Given the description of an element on the screen output the (x, y) to click on. 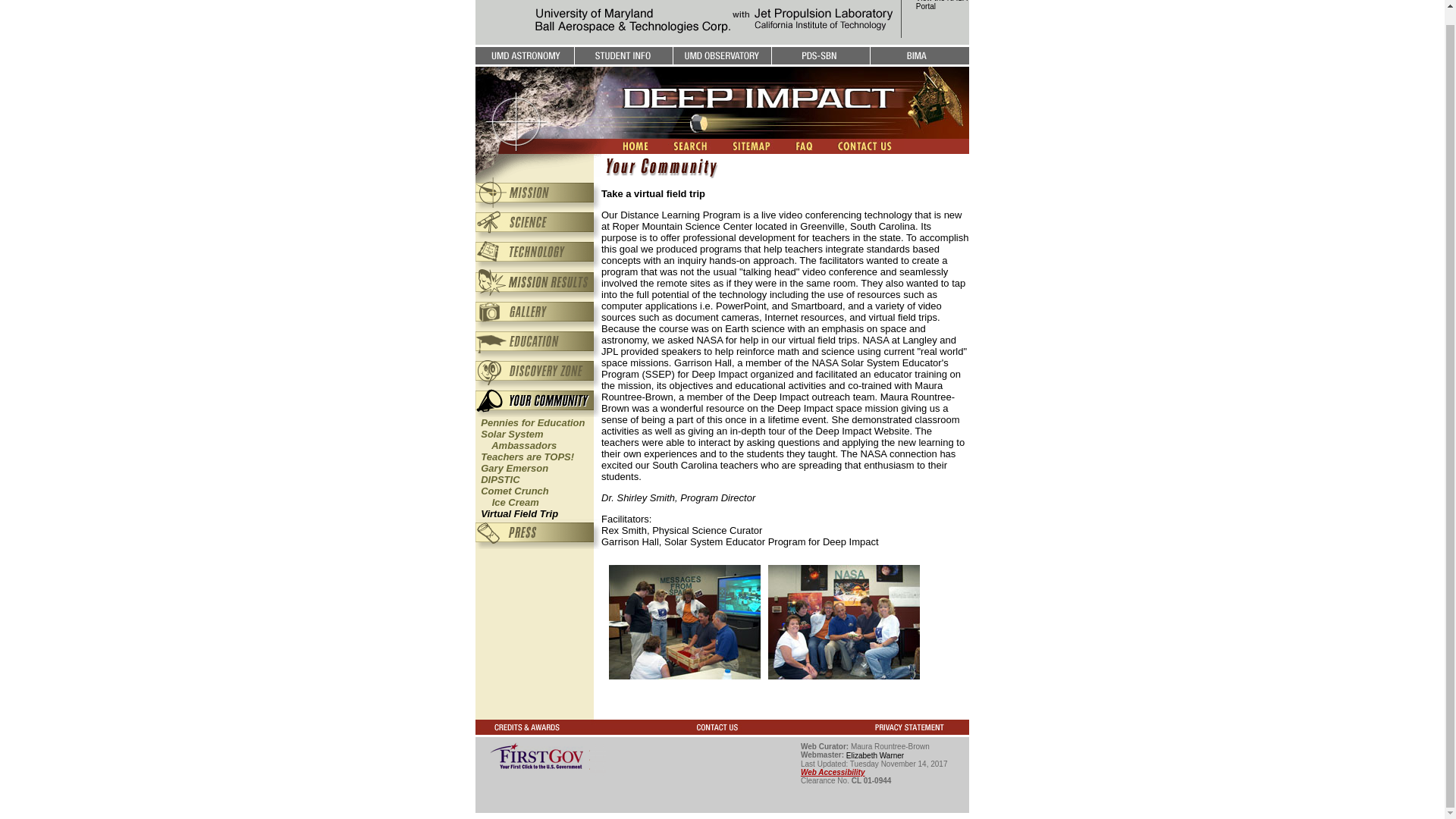
Elizabeth Warner (516, 439)
Virtual Field Trip (874, 755)
Gary Emerson (518, 513)
Pennies for Education (512, 496)
Web Accessibility (514, 468)
View the NASA Portal (532, 422)
Teachers are TOPS! (832, 772)
DIPSTIC (941, 5)
